Given the description of an element on the screen output the (x, y) to click on. 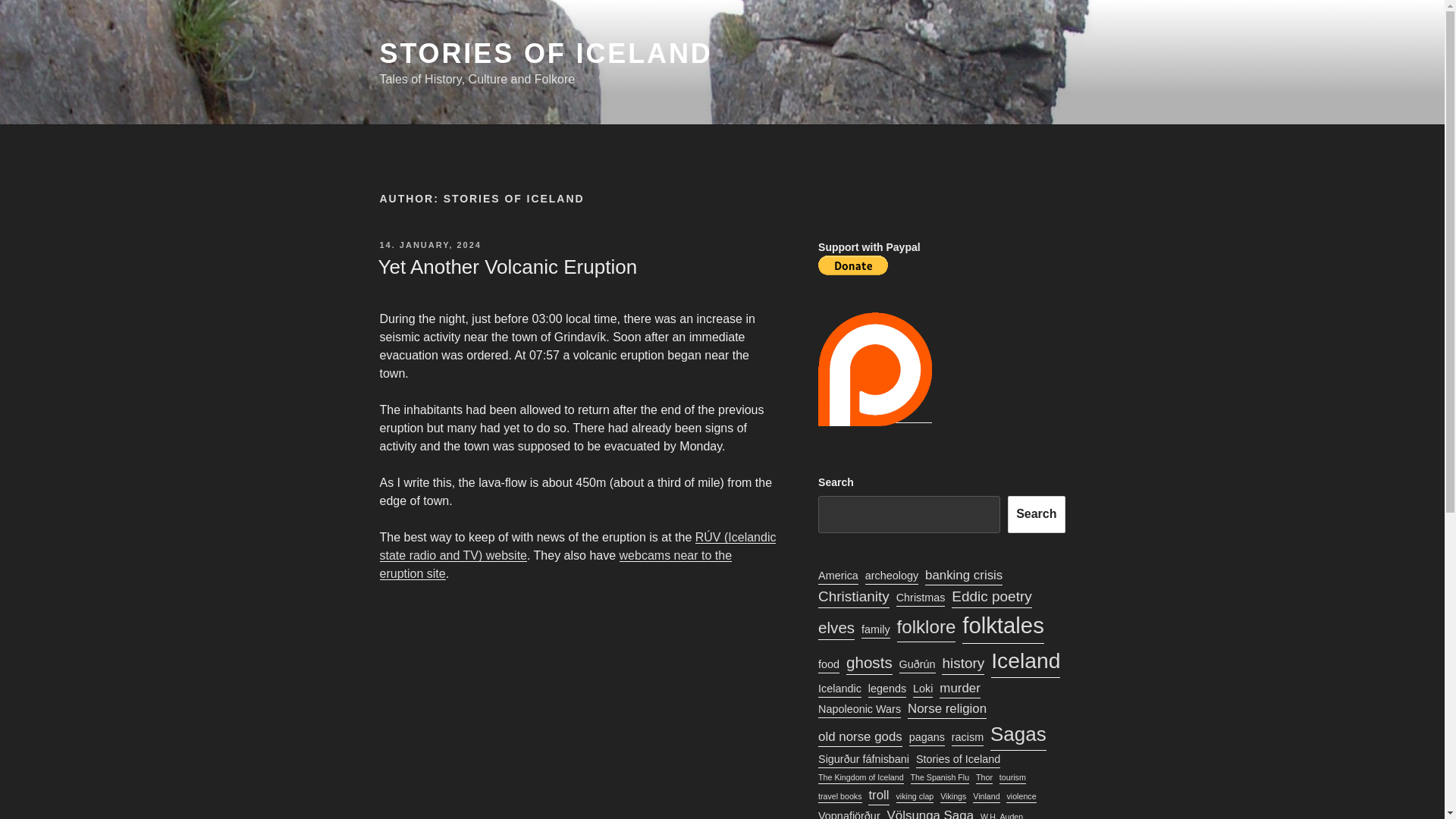
YouTube video player (577, 710)
America (838, 575)
Eddic poetry (991, 596)
banking crisis (963, 575)
food (829, 664)
pagans (926, 737)
racism (968, 737)
folklore (926, 627)
webcams near to the eruption site (555, 563)
14. JANUARY, 2024 (429, 244)
family (875, 629)
legends (886, 688)
Christmas (920, 597)
STORIES OF ICELAND (544, 52)
history (963, 662)
